Given the description of an element on the screen output the (x, y) to click on. 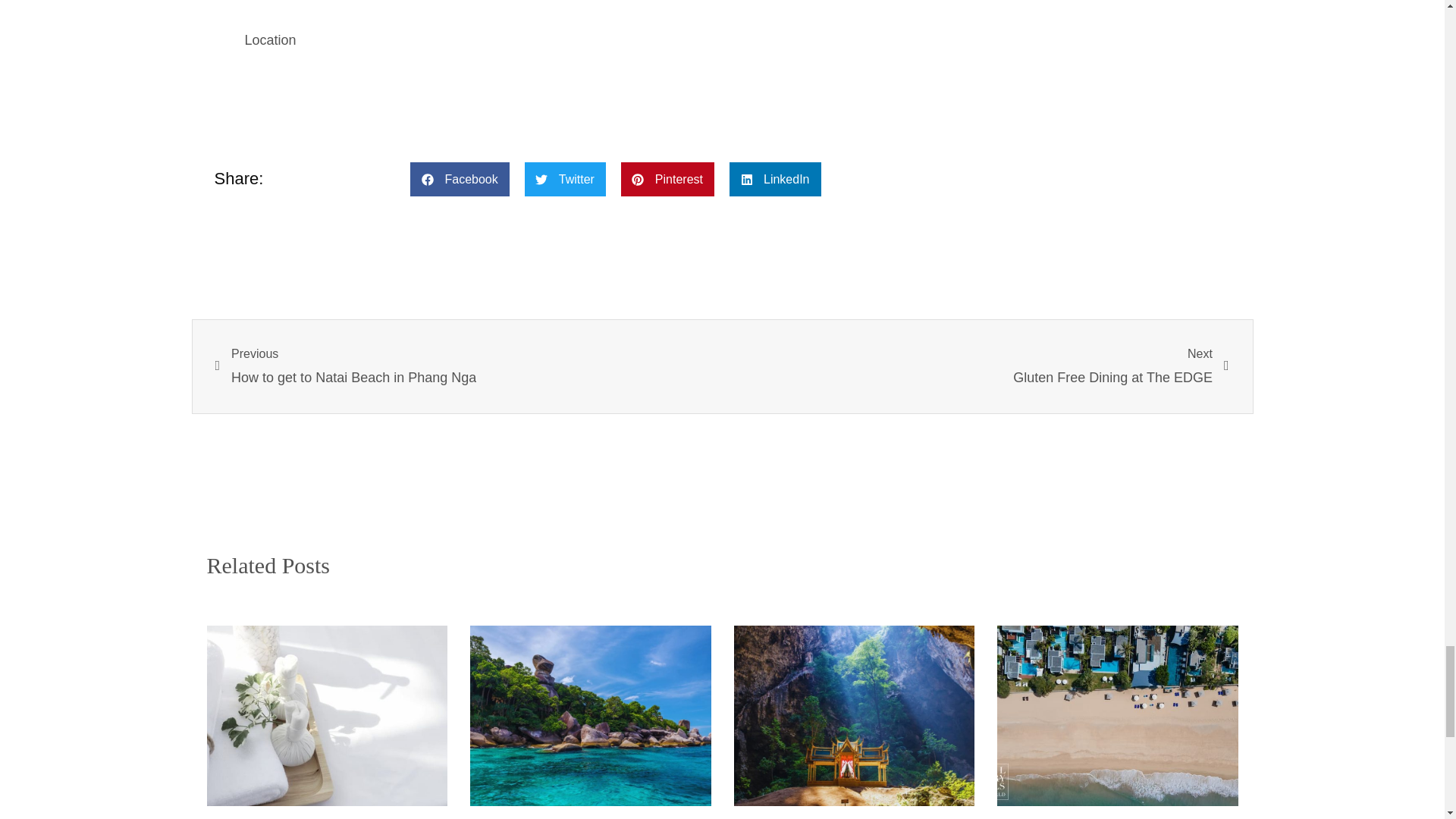
Aleenta Phuket - Phang Nga Resort (667, 4)
